Given the description of an element on the screen output the (x, y) to click on. 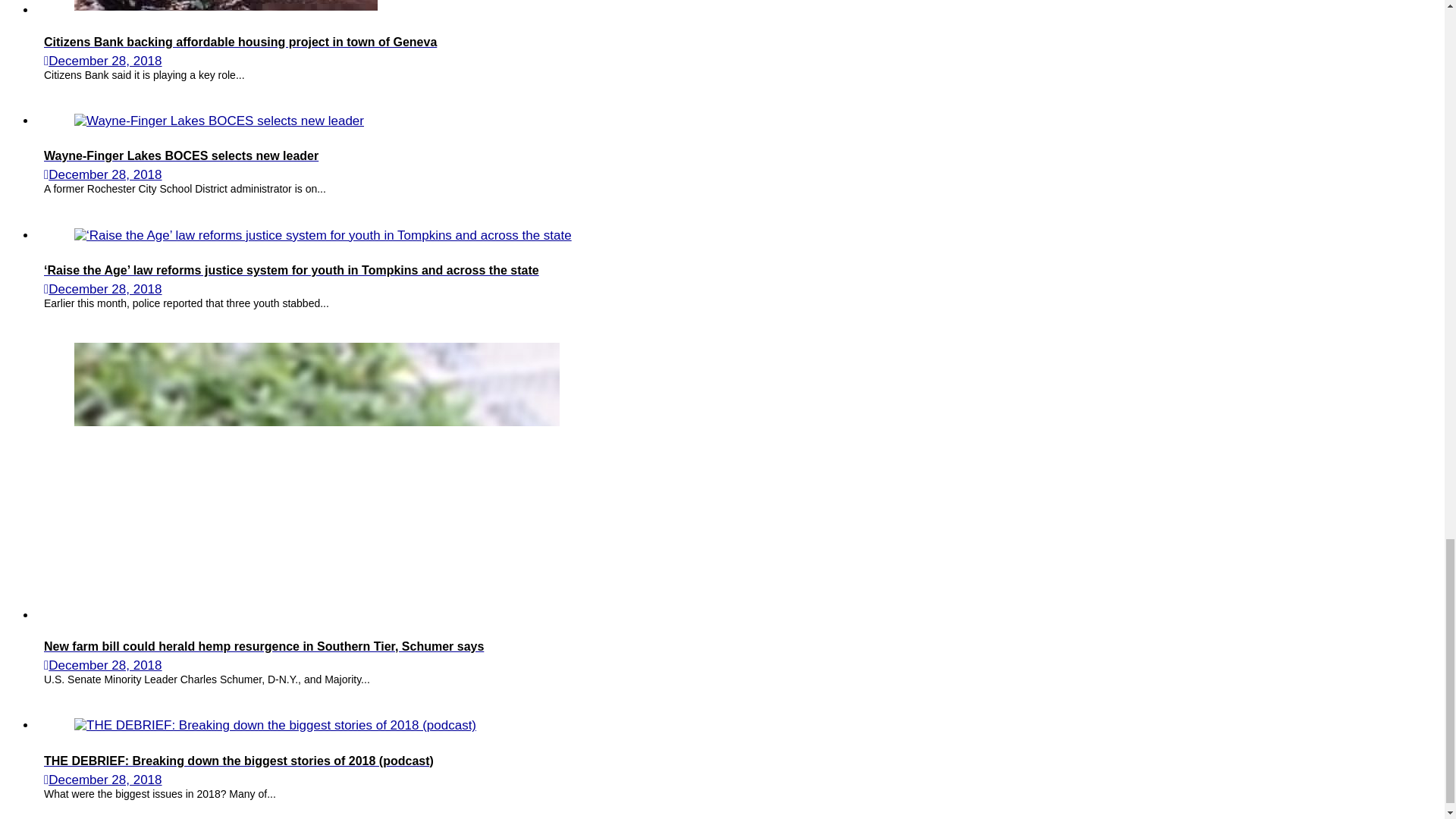
December 28, 2018 (104, 174)
December 28, 2018 (104, 288)
December 28, 2018 (104, 60)
December 28, 2018 (104, 665)
